Given the description of an element on the screen output the (x, y) to click on. 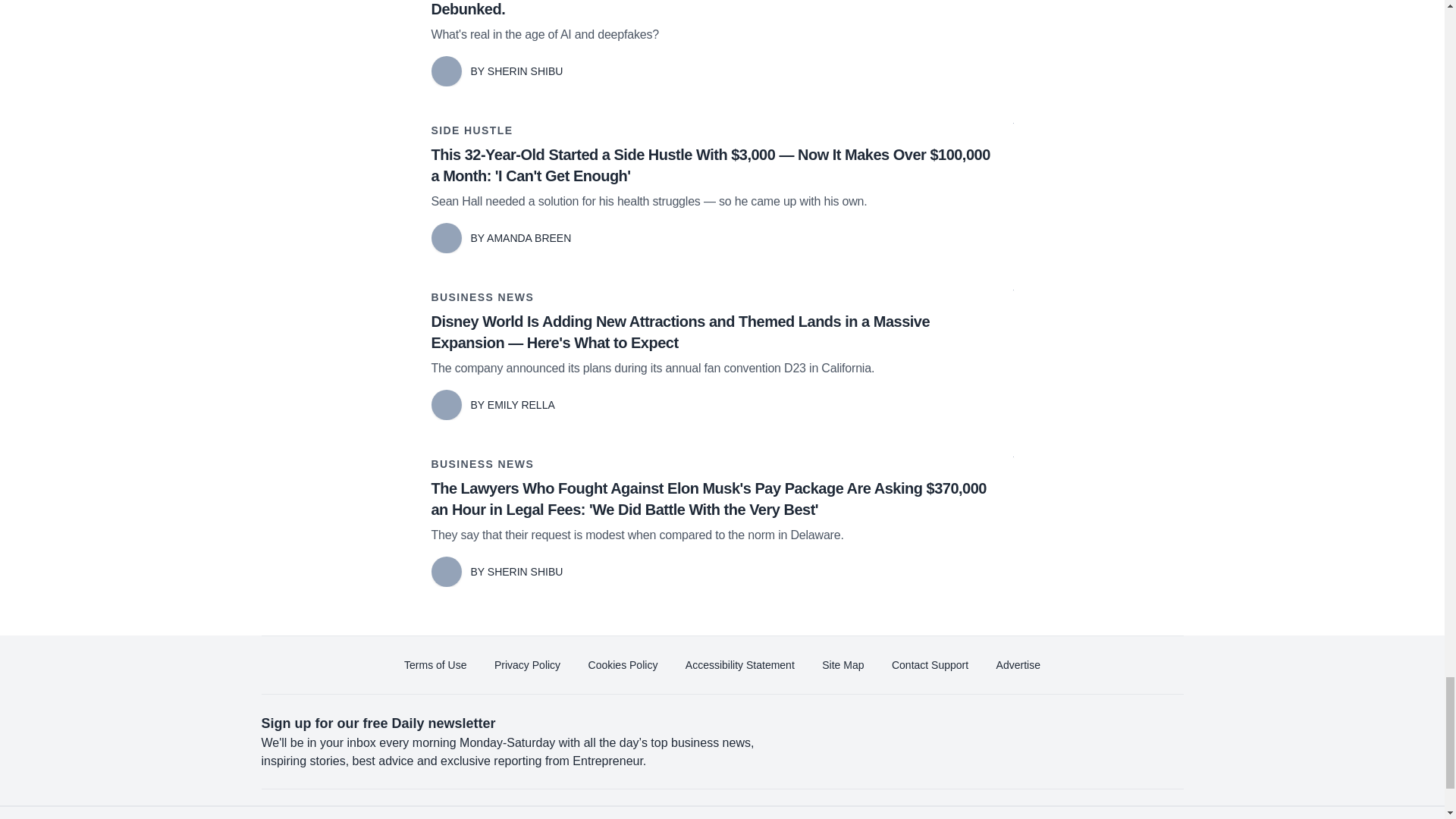
twitter (909, 813)
instagram (1037, 813)
linkedin (952, 813)
youtube (994, 813)
facebook (866, 813)
snapchat (1121, 813)
tiktok (1079, 813)
